Given the description of an element on the screen output the (x, y) to click on. 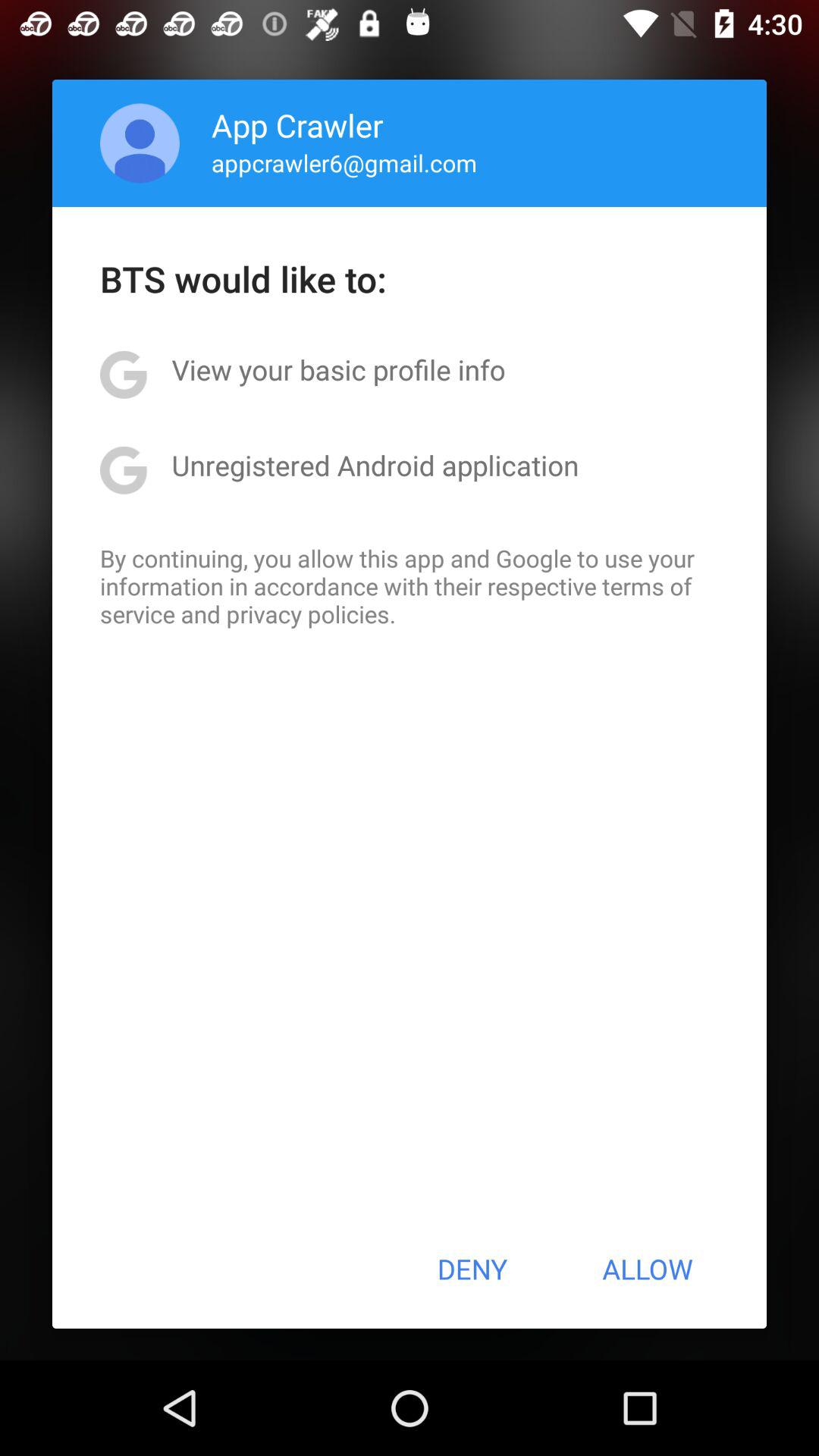
turn off unregistered android application (374, 465)
